Given the description of an element on the screen output the (x, y) to click on. 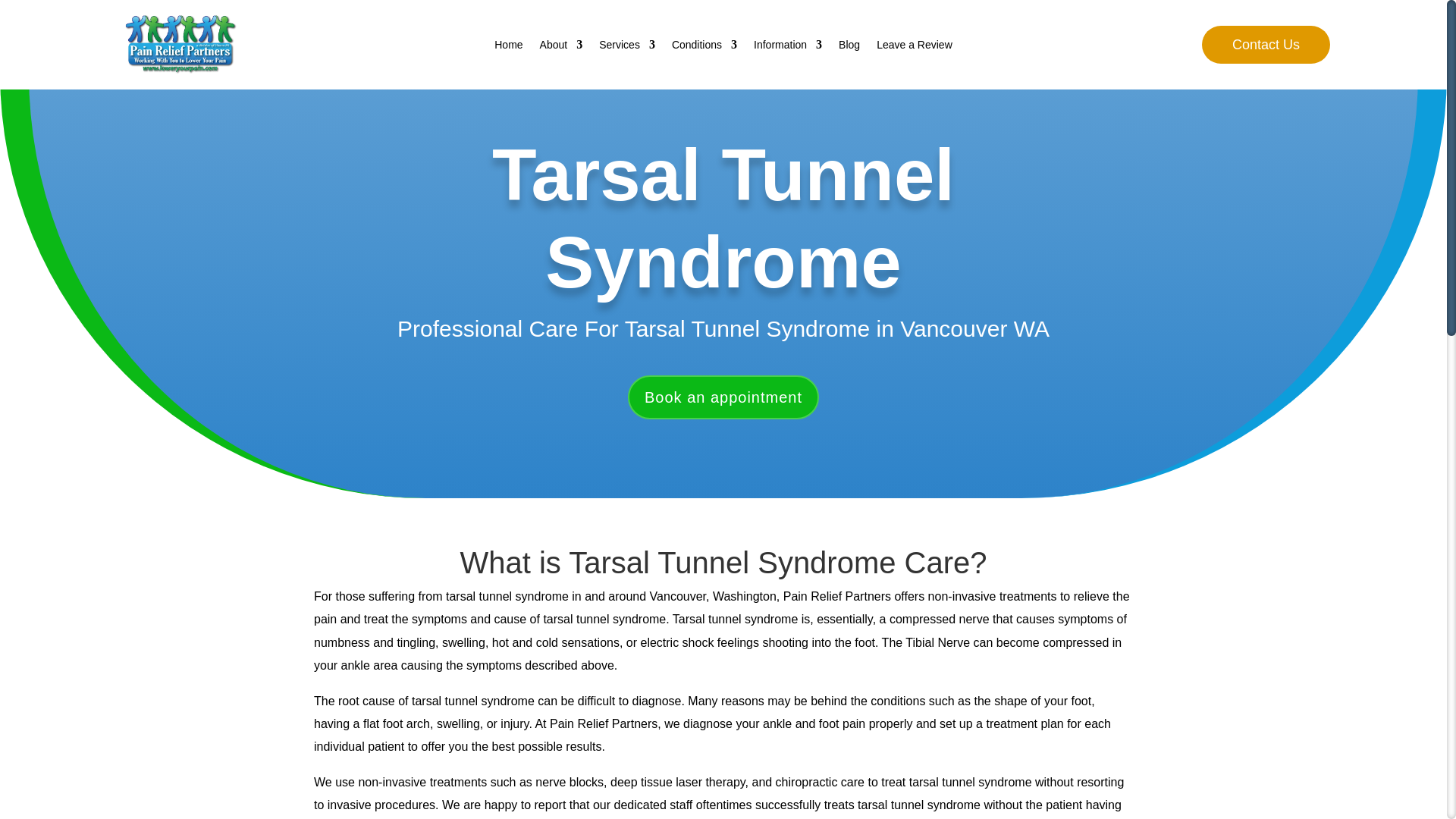
Leave a Review (914, 47)
Information (788, 47)
Home (508, 47)
About (561, 47)
Services (626, 47)
Blog (849, 47)
Conditions (703, 47)
